Given the description of an element on the screen output the (x, y) to click on. 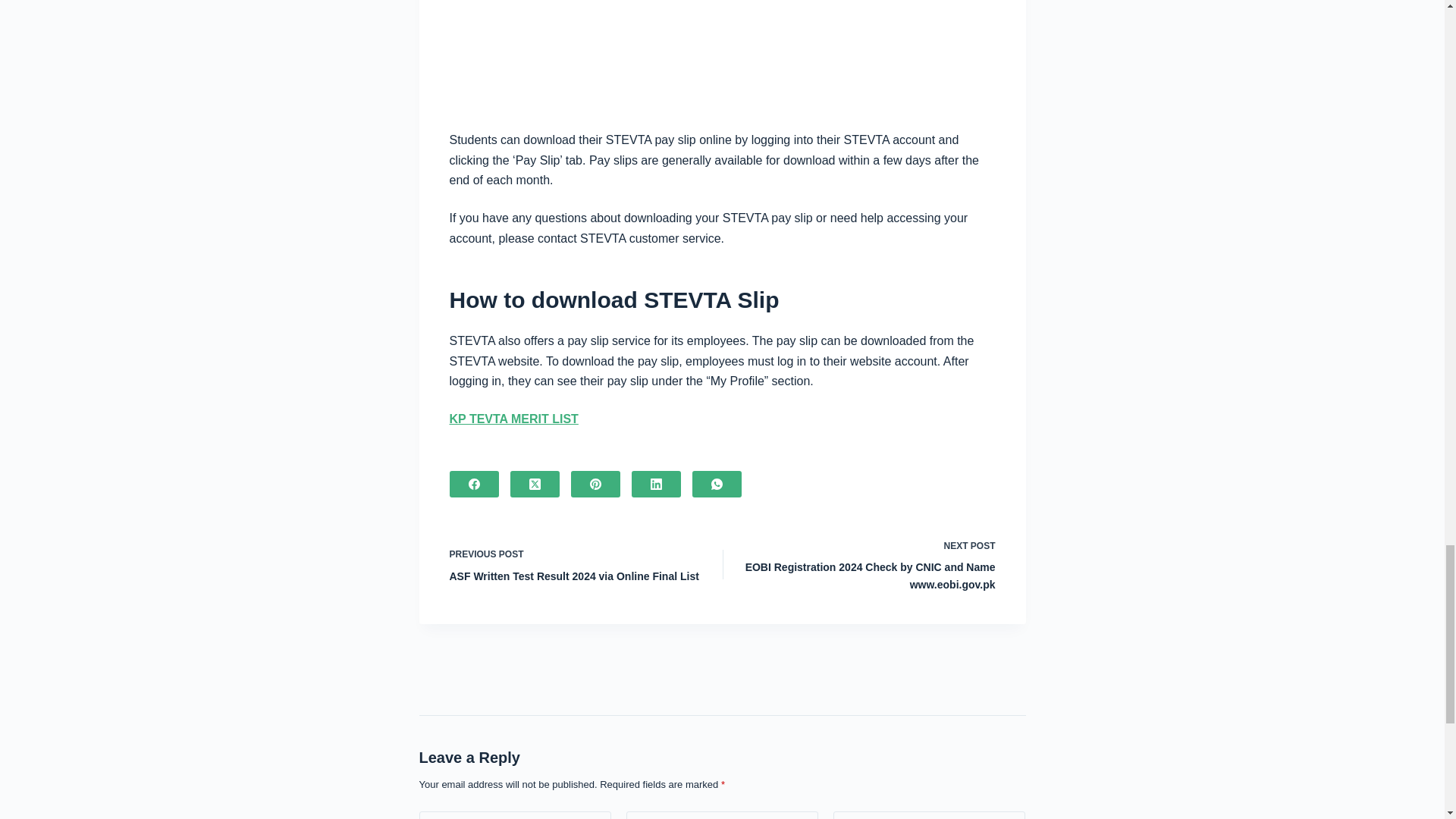
KP TEVTA MERIT LIST (513, 418)
